Given the description of an element on the screen output the (x, y) to click on. 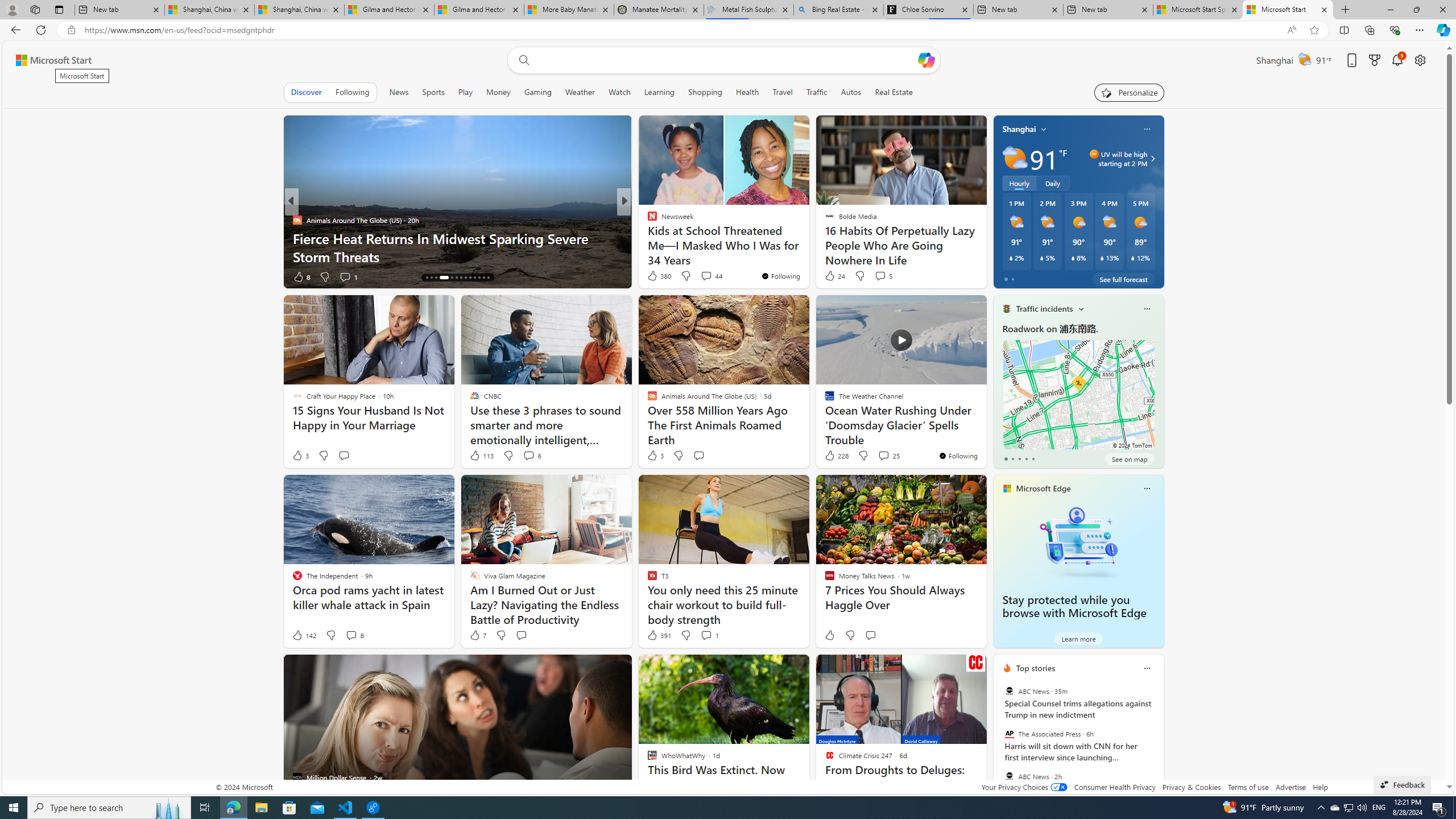
Chloe Sorvino (928, 9)
